Given the description of an element on the screen output the (x, y) to click on. 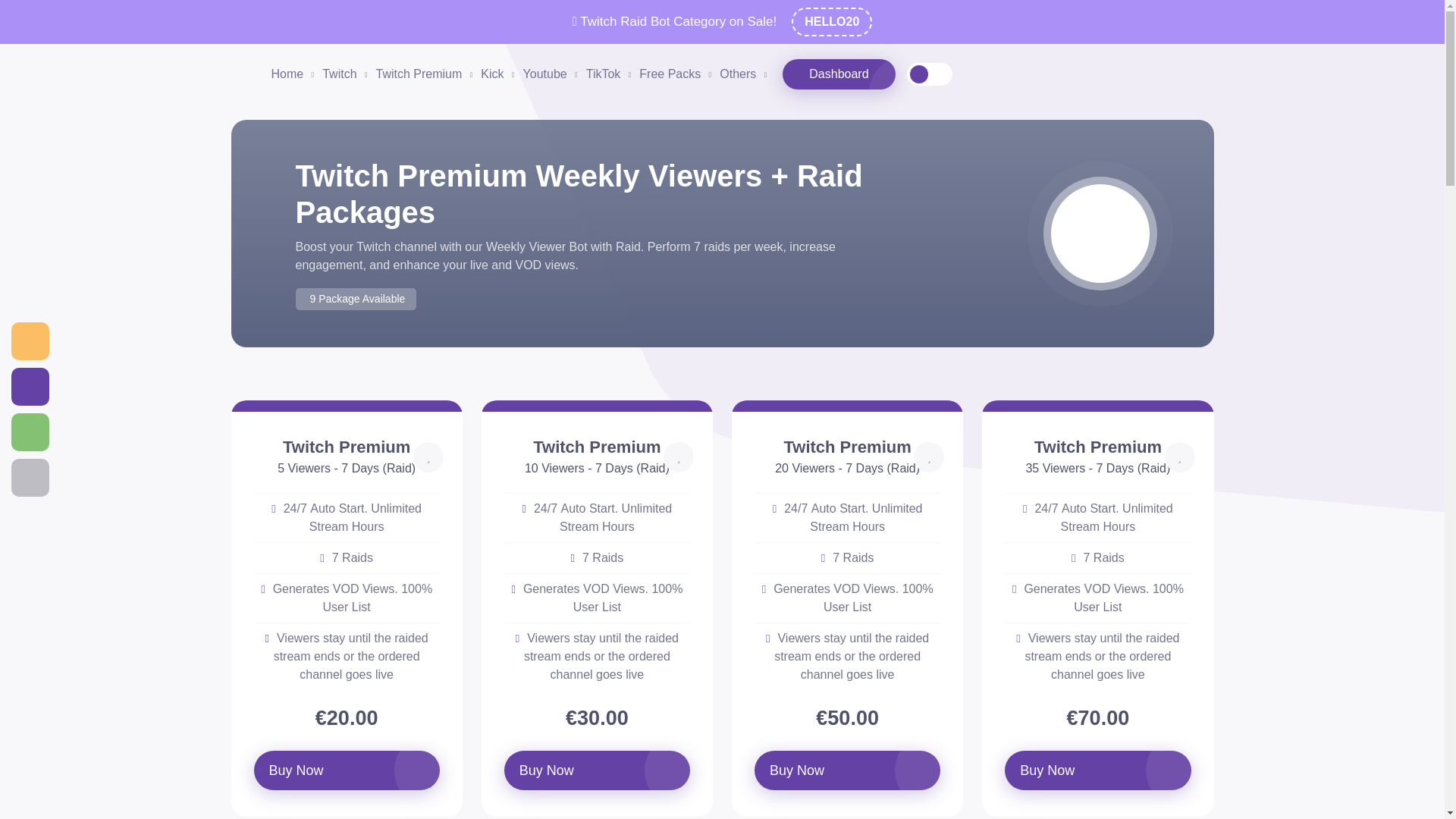
Bot Viewer (248, 74)
Home (292, 73)
Add Favorites! (678, 457)
Add Favorites! (1179, 457)
HELLO20 (832, 21)
Youtube (550, 73)
Kick (497, 73)
Add Favorites! (928, 457)
Twitch (344, 73)
Twitch Premium (424, 73)
Add Favorites! (428, 457)
